Given the description of an element on the screen output the (x, y) to click on. 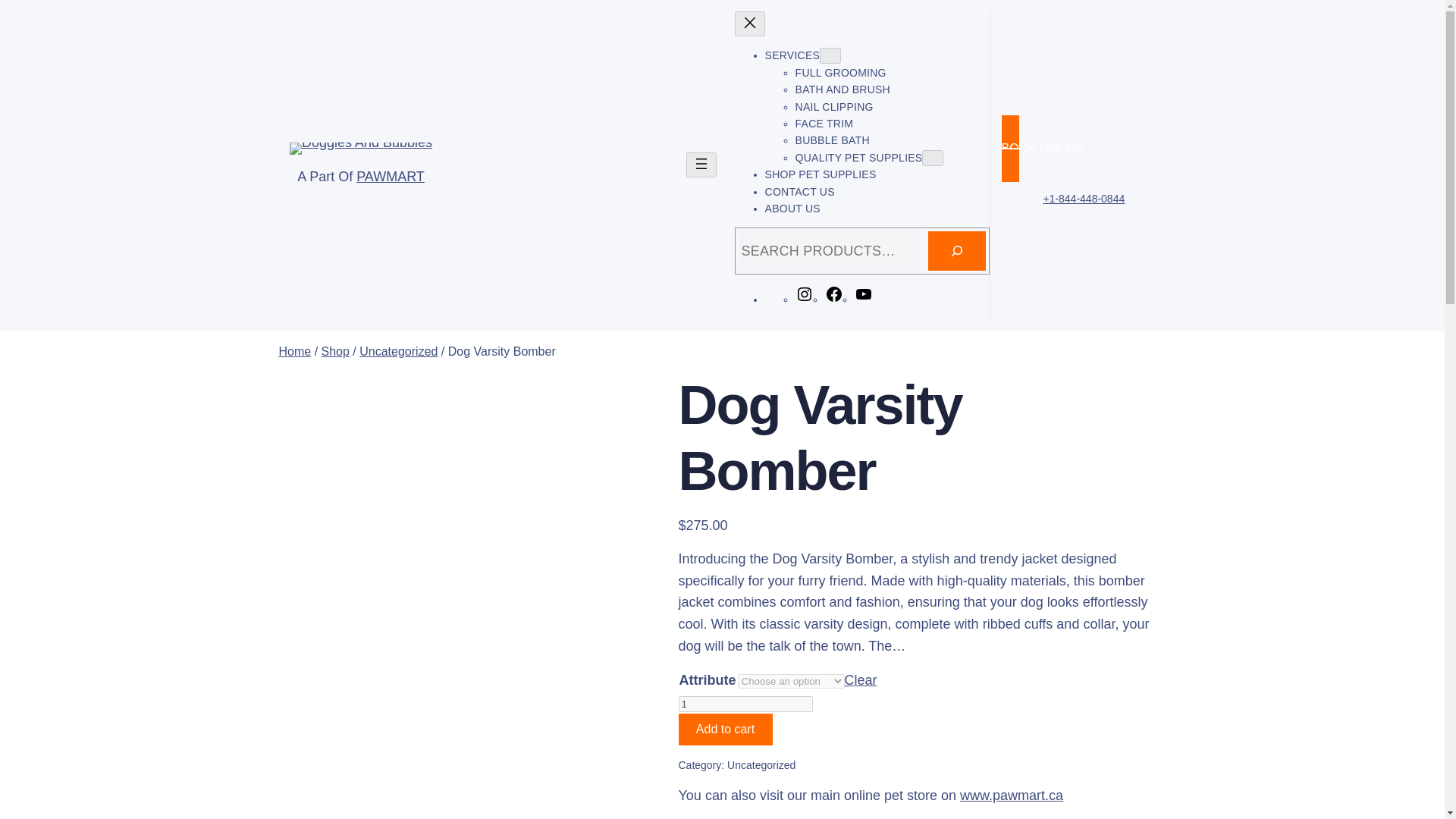
ABOUT US (793, 208)
Home (295, 350)
FACEBOOK (834, 299)
1 (745, 703)
PAWMART (390, 176)
SERVICES (793, 55)
QUALITY PET SUPPLIES (858, 157)
FULL GROOMING (840, 72)
www.pawmart.ca (1010, 795)
NAIL CLIPPING (833, 106)
CONTACT US (799, 191)
Clear (860, 679)
FACE TRIM (823, 123)
BUBBLE BATH (831, 140)
Add to cart (724, 728)
